Given the description of an element on the screen output the (x, y) to click on. 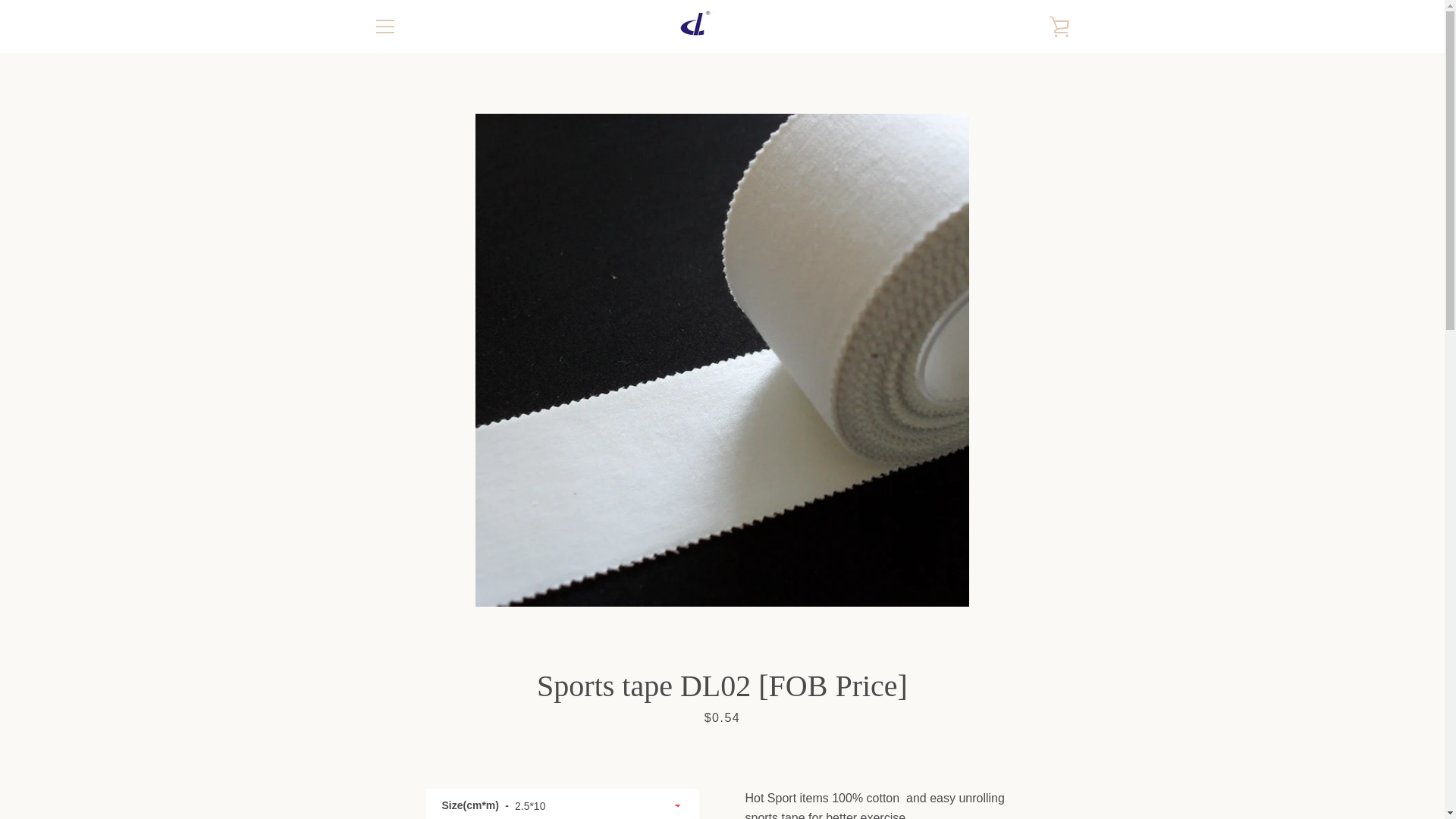
EXPAND NAVIGATION (384, 26)
VIEW CART (1059, 26)
